Given the description of an element on the screen output the (x, y) to click on. 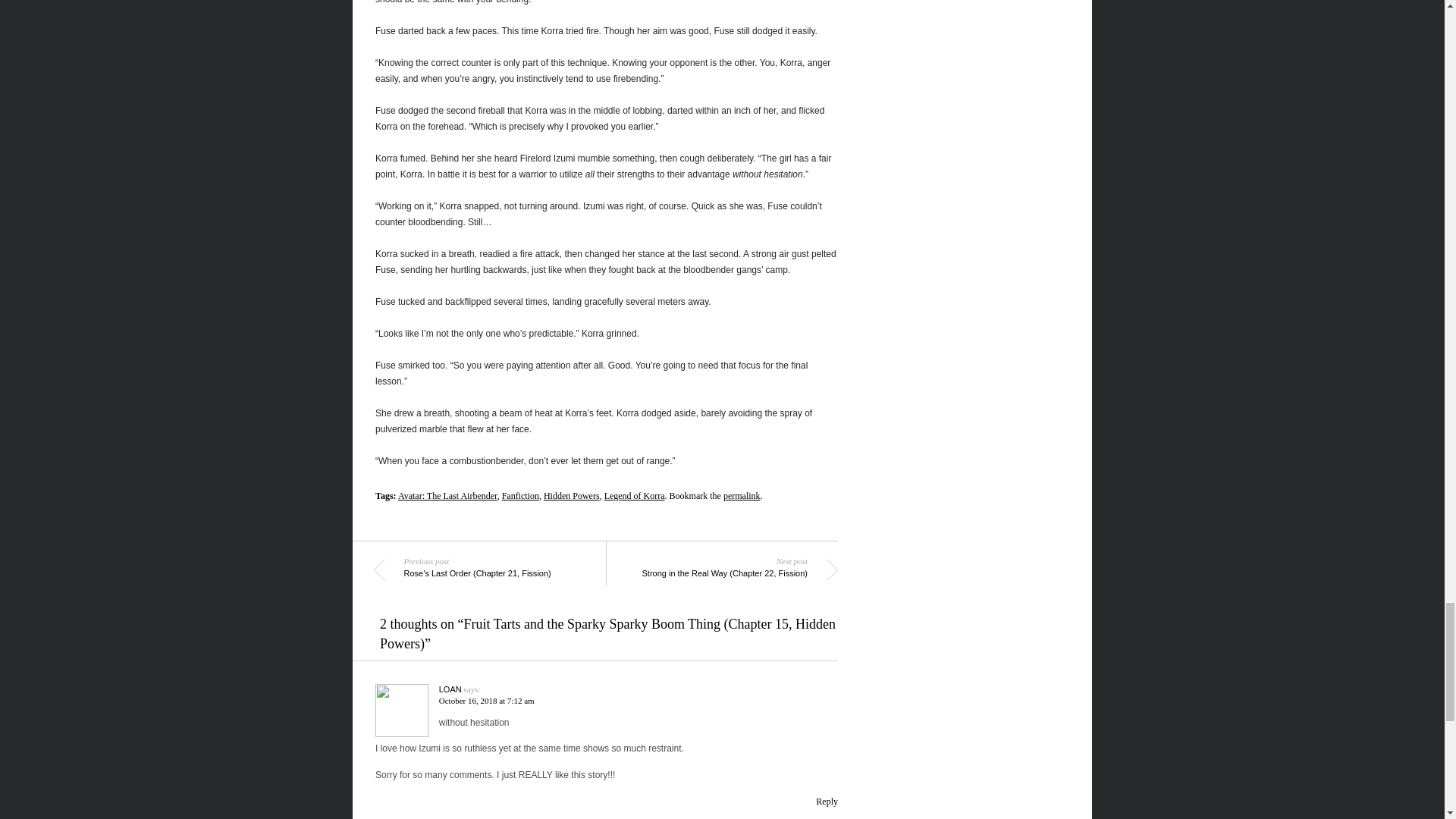
Legend of Korra (634, 495)
permalink (741, 495)
Hidden Powers (571, 495)
Reply (826, 801)
LOAN (450, 688)
Avatar: The Last Airbender (447, 495)
October 16, 2018 at 7:12 am (486, 700)
Fanfiction (520, 495)
